Given the description of an element on the screen output the (x, y) to click on. 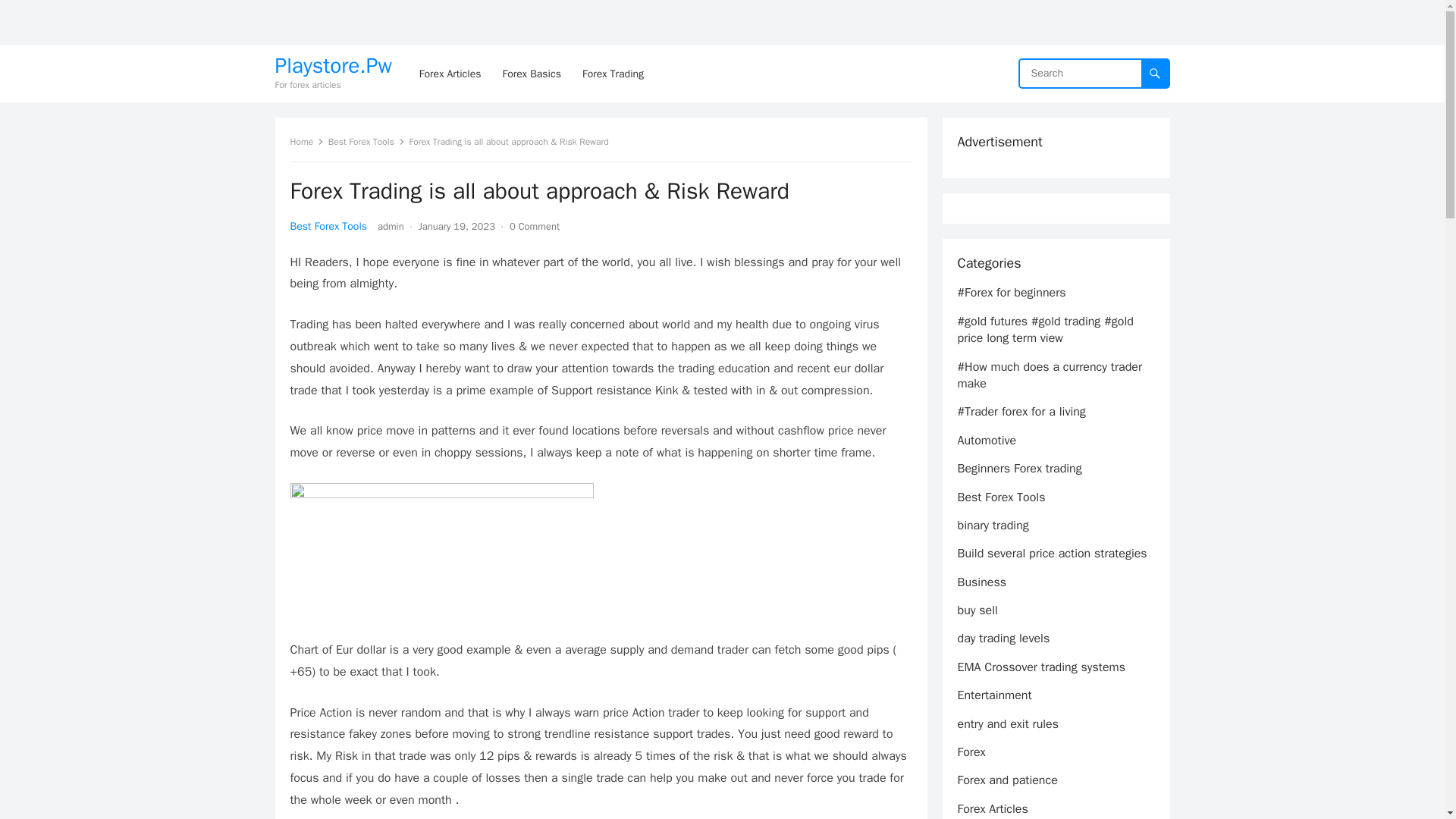
Best Forex Tools (327, 226)
0 Comment (534, 226)
Posts by admin (390, 226)
Playstore.Pw (333, 65)
Home (306, 141)
admin (390, 226)
Forex Basics (531, 73)
Forex Trading (612, 73)
Best Forex Tools (366, 141)
Forex Articles (450, 73)
